Given the description of an element on the screen output the (x, y) to click on. 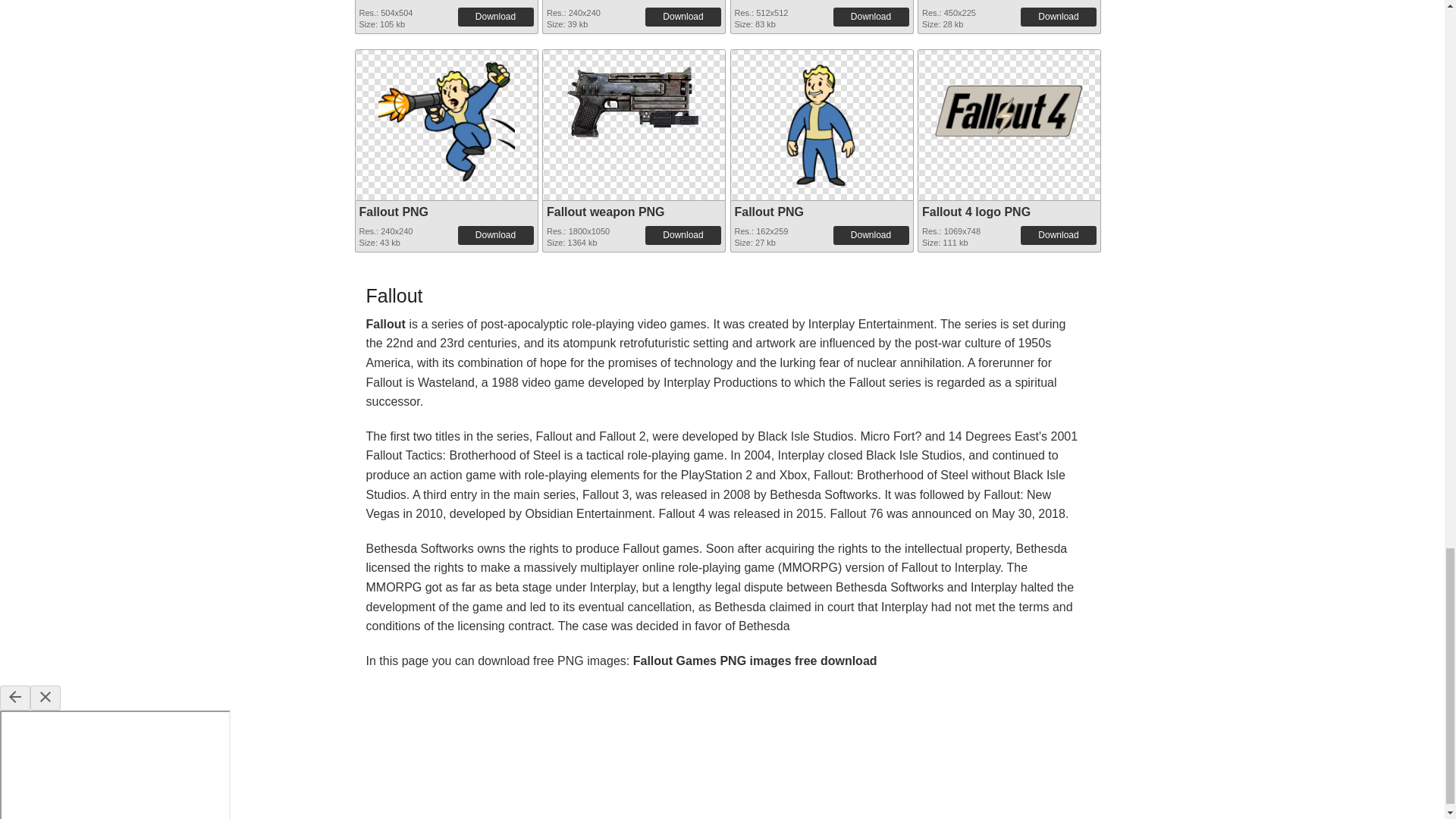
Download (1058, 16)
Download (870, 16)
Download (682, 16)
Download (496, 16)
